Given the description of an element on the screen output the (x, y) to click on. 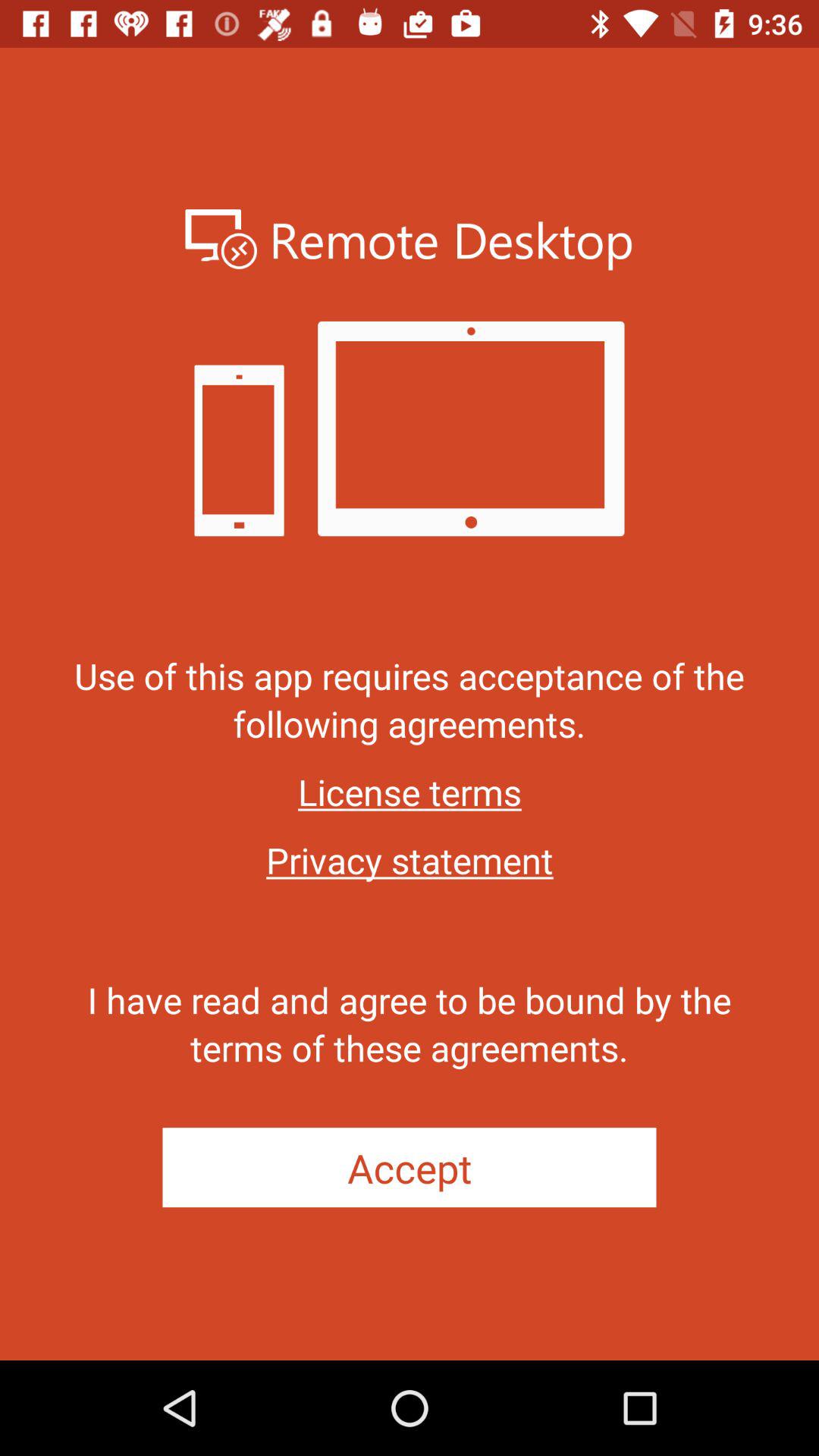
open item above the privacy statement icon (409, 791)
